Given the description of an element on the screen output the (x, y) to click on. 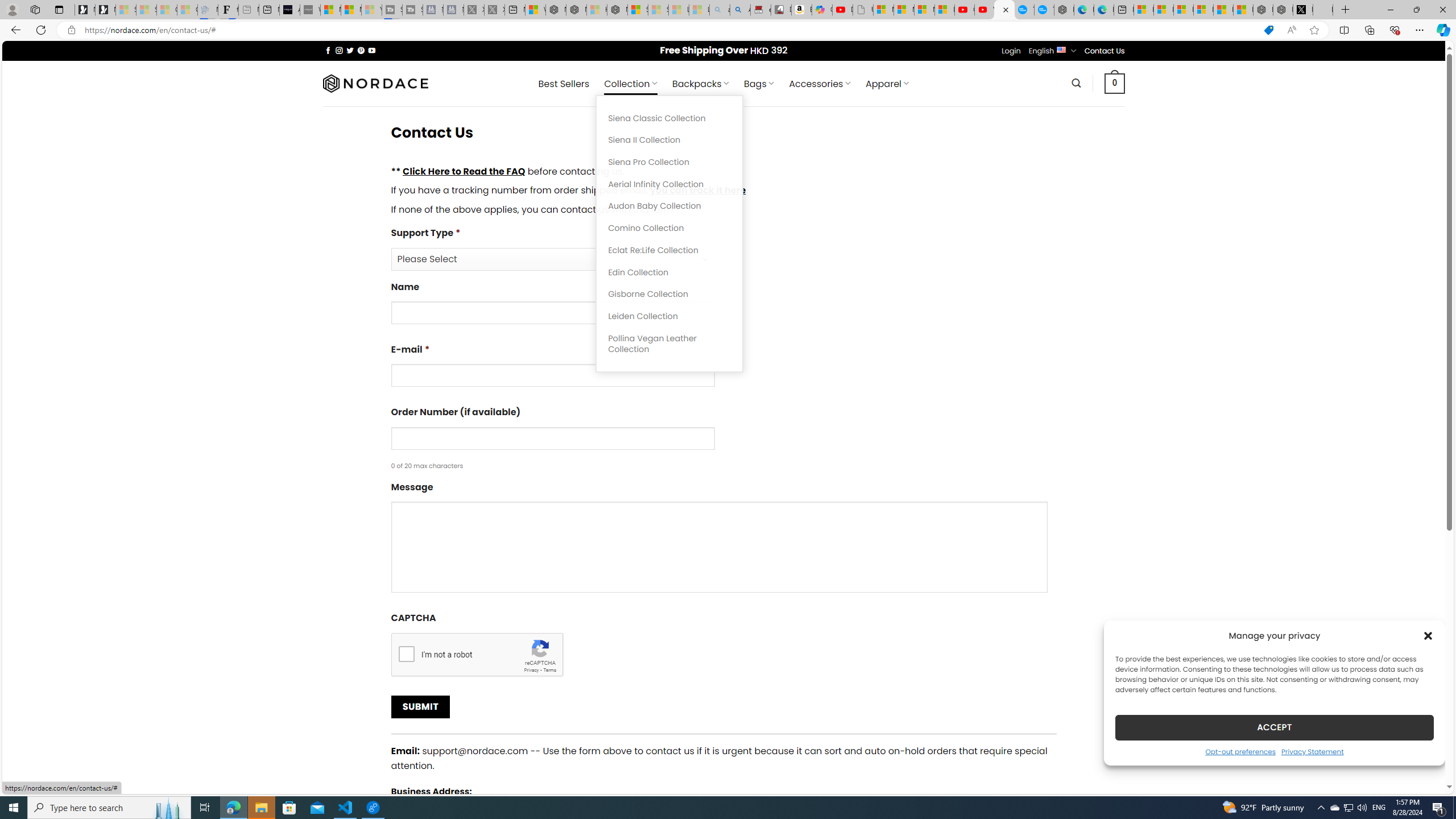
Follow on Instagram (338, 49)
Audon Baby Collection (669, 205)
amazon - Search - Sleeping (719, 9)
ACCEPT (1274, 727)
English (1061, 49)
Comino Collection (669, 228)
Siena Classic Collection (669, 118)
